Given the description of an element on the screen output the (x, y) to click on. 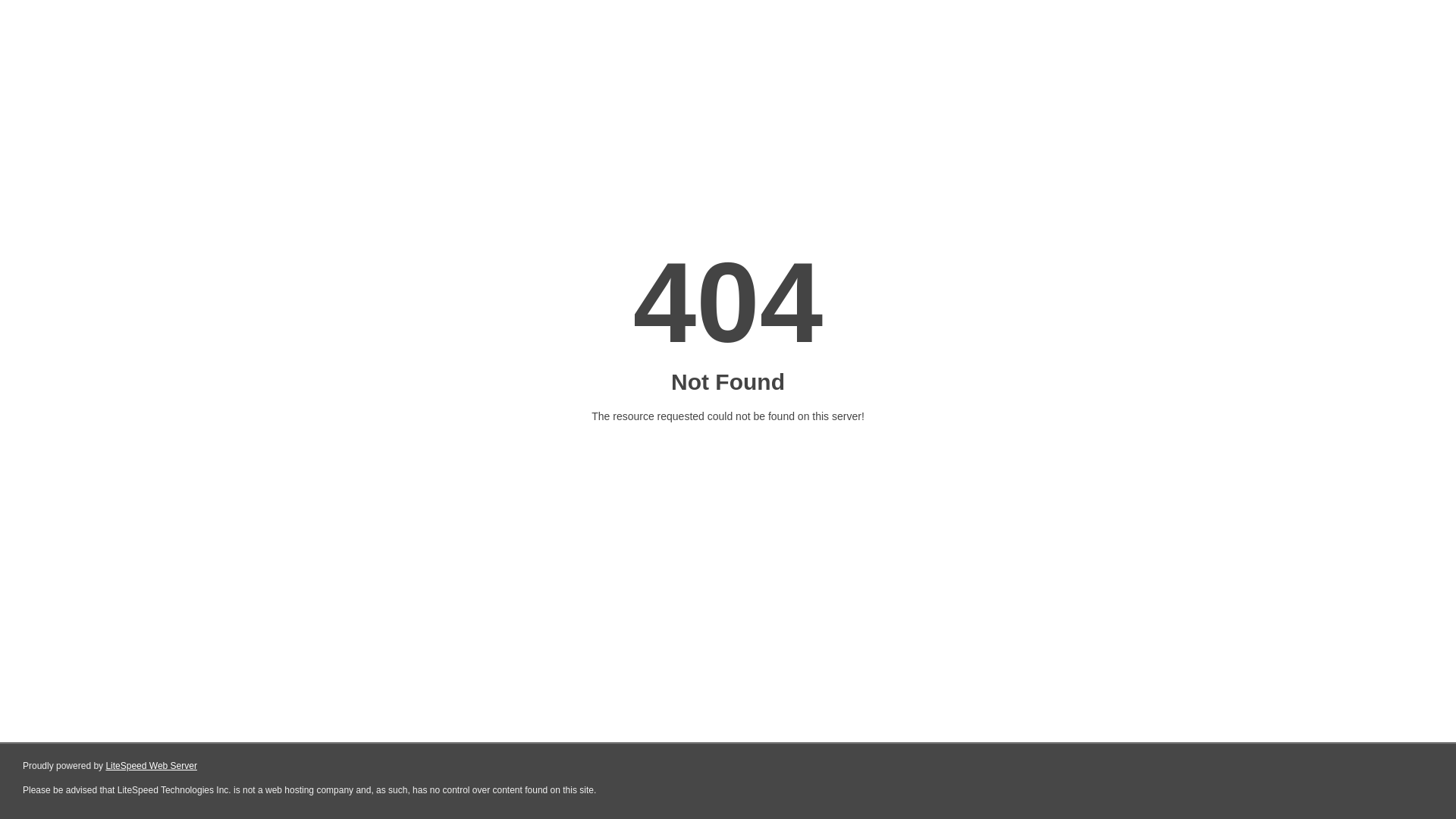
LiteSpeed Web Server Element type: text (151, 765)
